Given the description of an element on the screen output the (x, y) to click on. 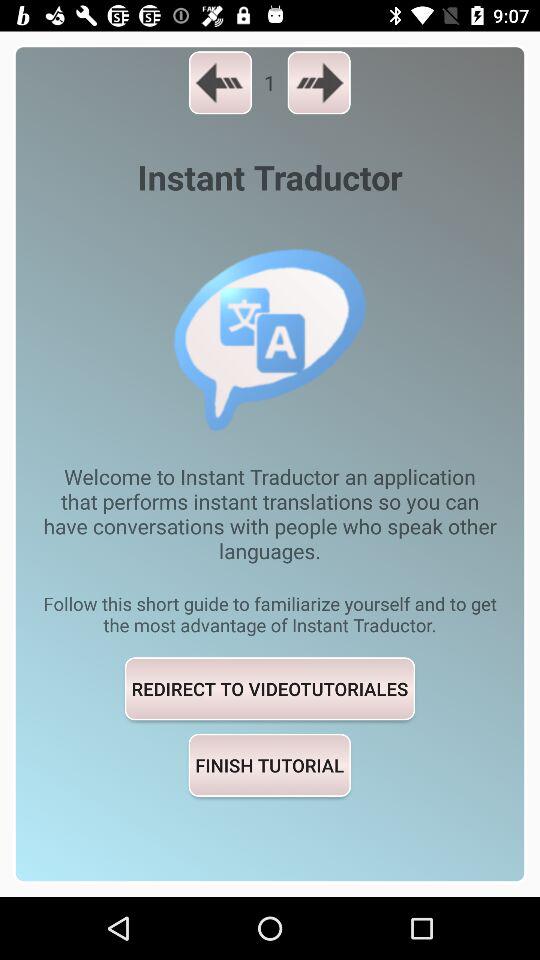
turn on the icon to the left of the  1 (220, 82)
